Given the description of an element on the screen output the (x, y) to click on. 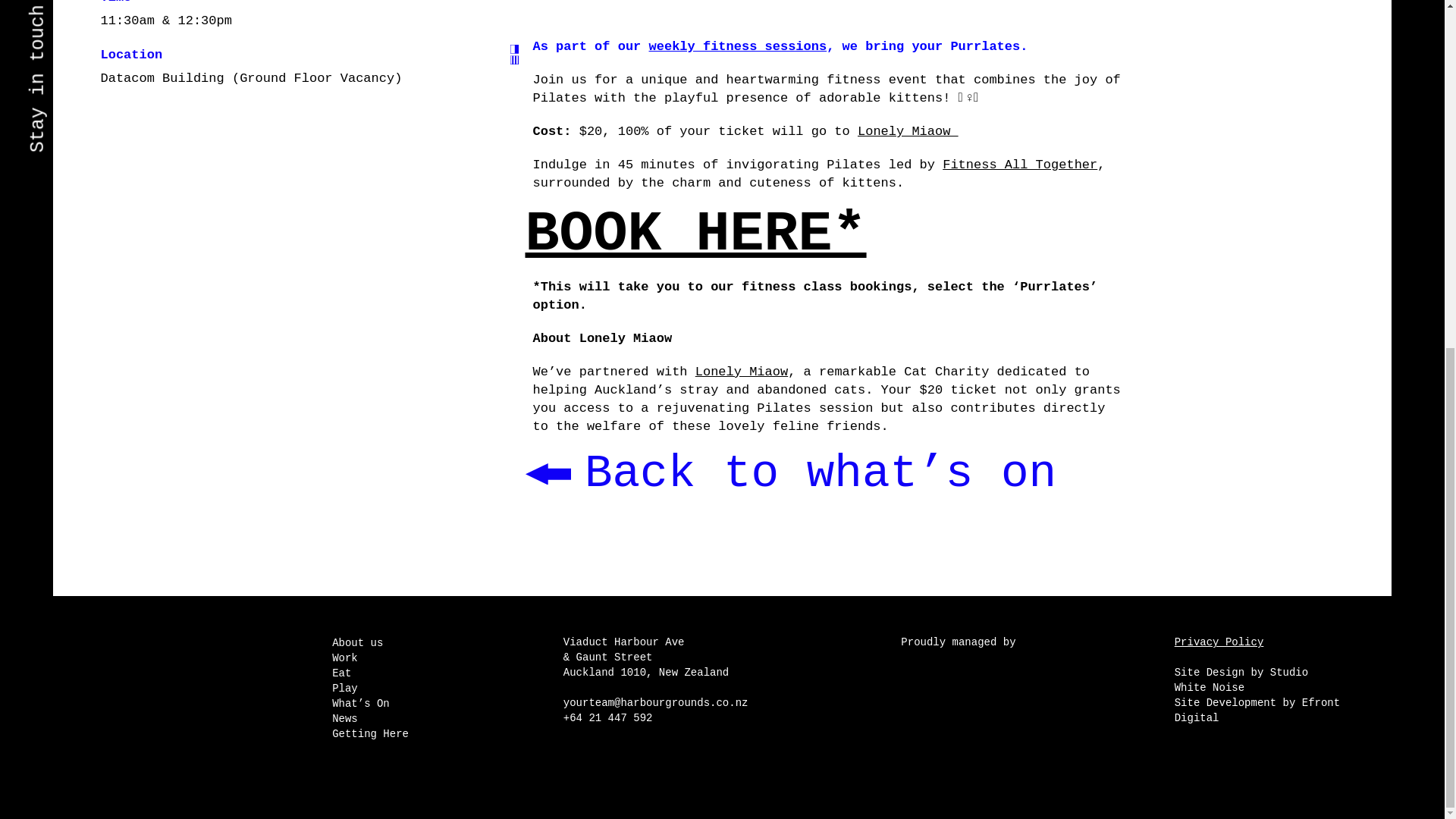
Lonely Miaow  (907, 131)
Fitness All Together (1019, 164)
Play (344, 688)
News (344, 718)
Lonely Miaow (741, 371)
Work (344, 657)
About us (356, 643)
Getting Here (370, 734)
Eat (340, 673)
weekly fitness sessions (738, 46)
